Given the description of an element on the screen output the (x, y) to click on. 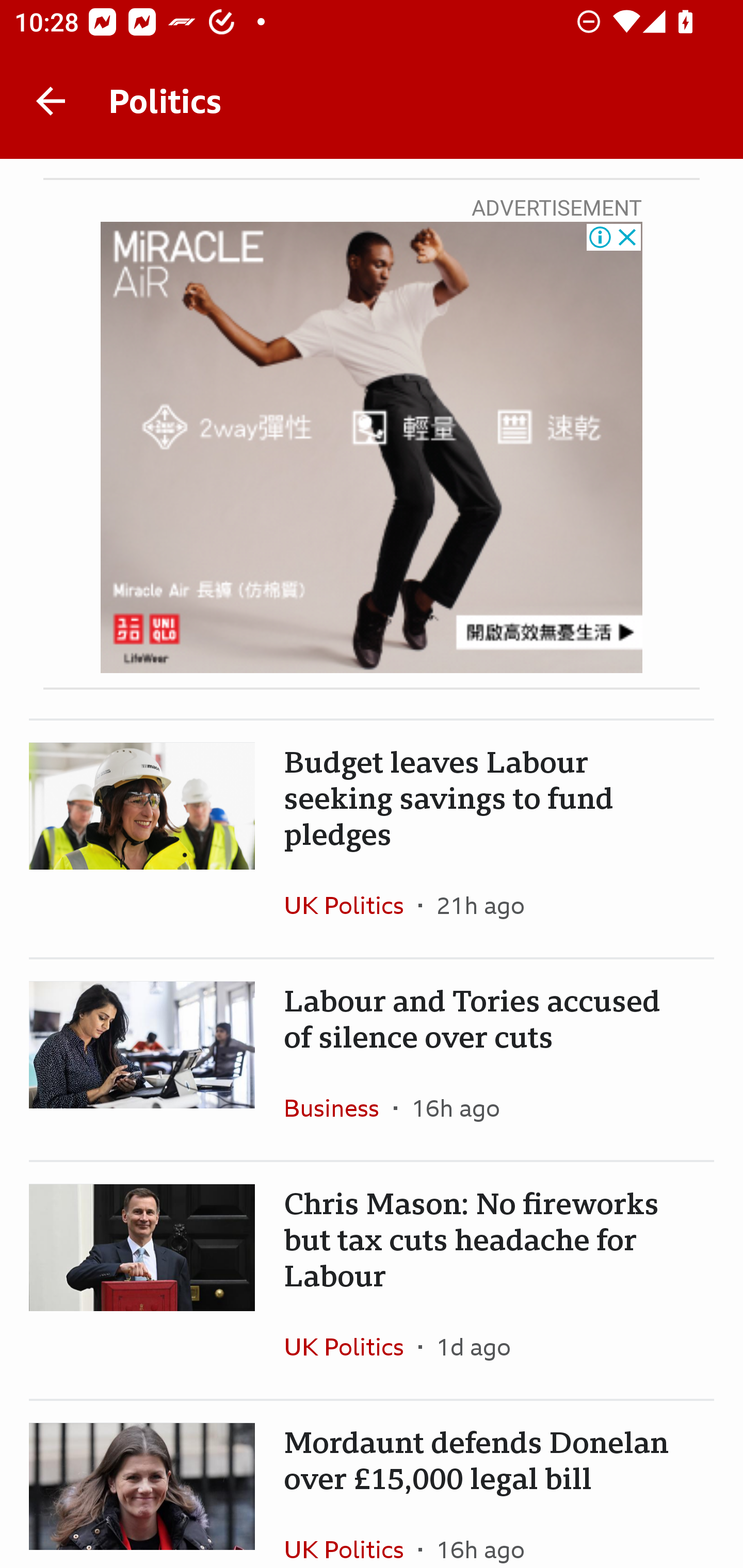
Back (50, 101)
Advertisement (371, 447)
UK Politics In the section UK Politics (350, 905)
Business In the section Business (338, 1107)
UK Politics In the section UK Politics (350, 1346)
UK Politics In the section UK Politics (350, 1532)
